Given the description of an element on the screen output the (x, y) to click on. 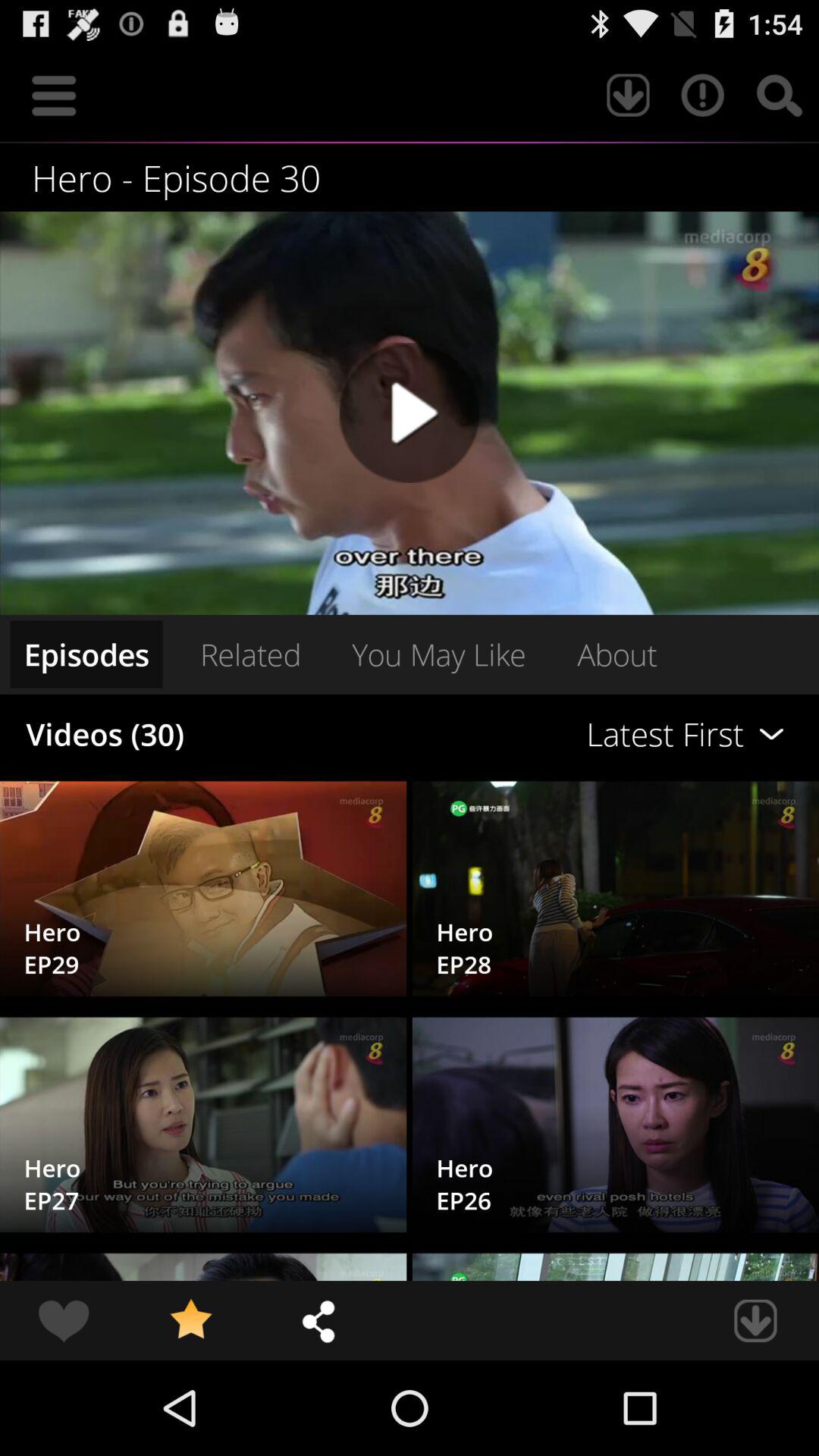
open the related icon (250, 654)
